Given the description of an element on the screen output the (x, y) to click on. 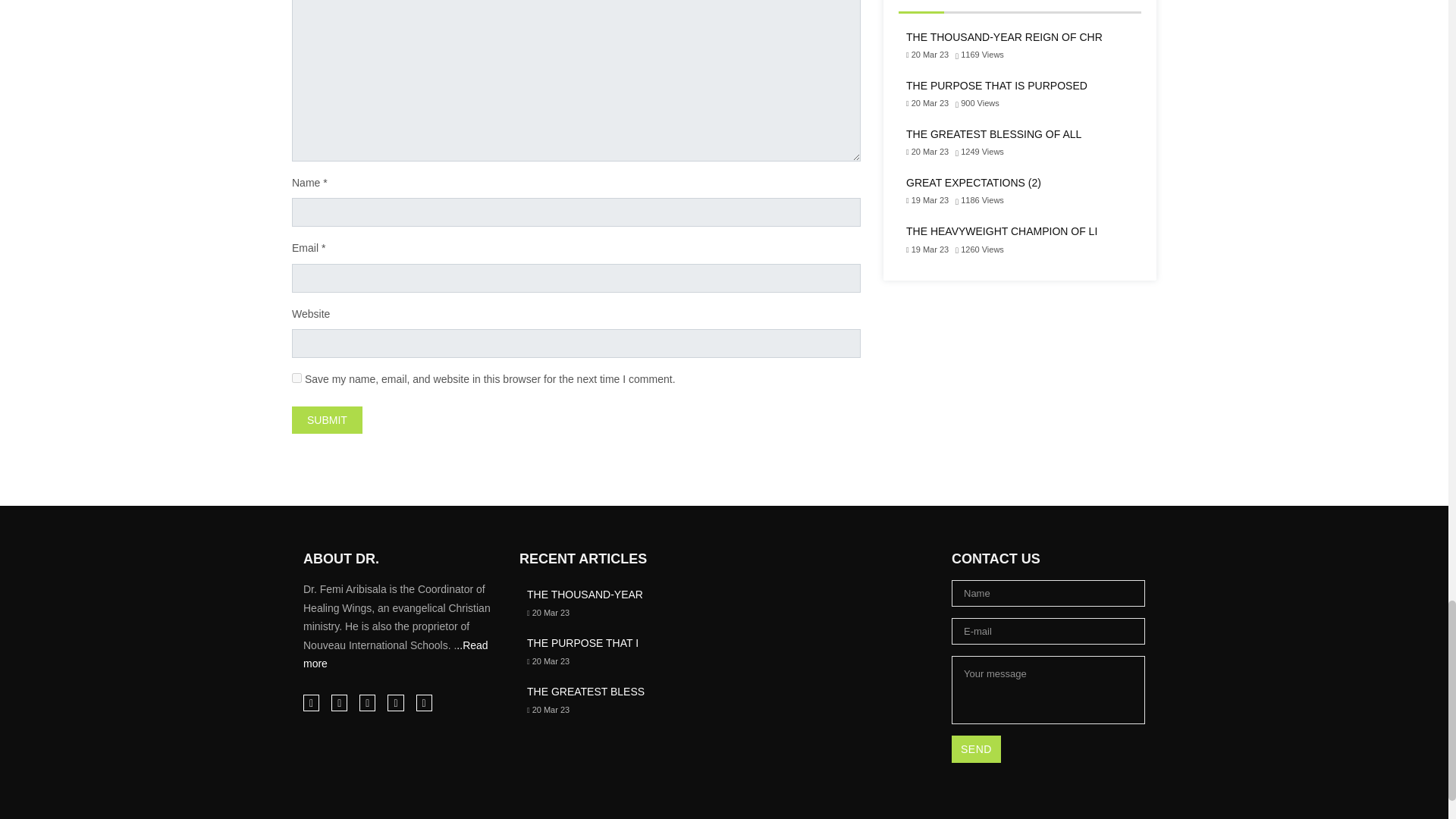
Send (976, 748)
LinkedIn (367, 702)
Youtube (422, 702)
Instagram (339, 702)
Twitter (395, 702)
Submit (327, 420)
yes (296, 378)
Facebook (310, 702)
